Given the description of an element on the screen output the (x, y) to click on. 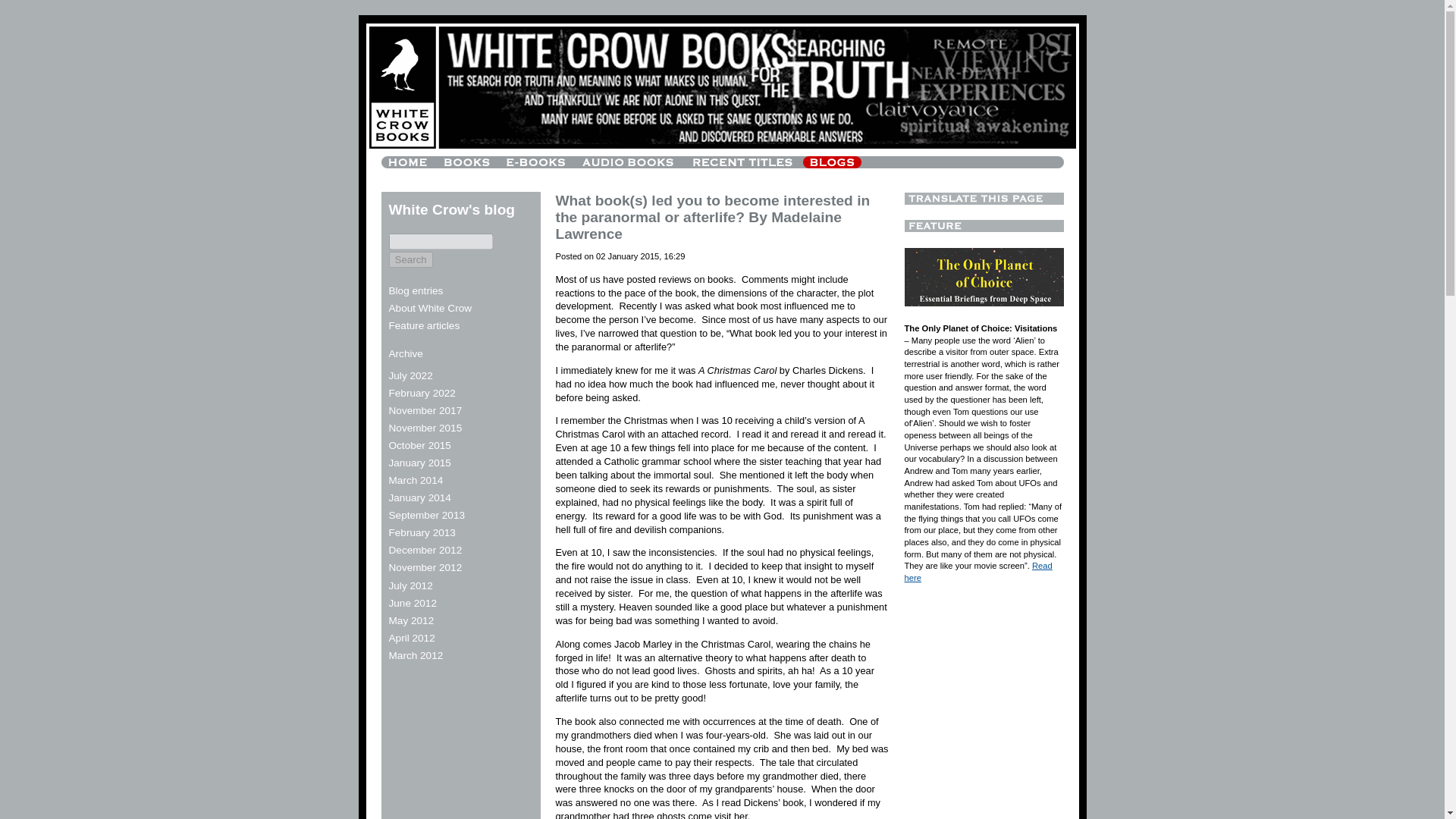
November 2012 (424, 567)
January 2015 (418, 462)
White Crow's blog (451, 210)
October 2015 (418, 445)
November 2015 (424, 428)
About White Crow (429, 307)
Search (410, 259)
Search (410, 259)
January 2014 (418, 497)
July 2022 (410, 375)
April 2012 (410, 637)
Feature articles (424, 325)
December 2012 (424, 550)
November 2017 (424, 410)
June 2012 (412, 603)
